Given the description of an element on the screen output the (x, y) to click on. 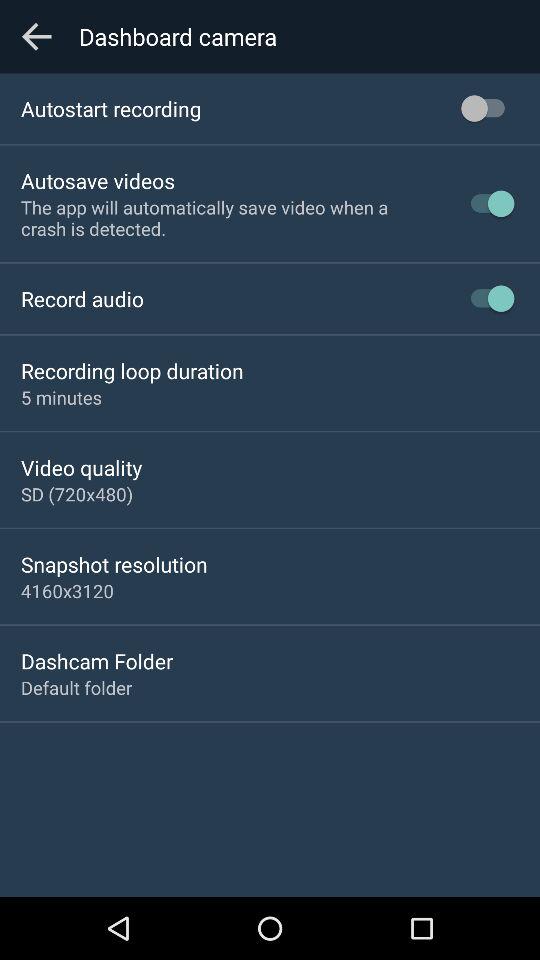
turn off the app below record audio icon (132, 370)
